Given the description of an element on the screen output the (x, y) to click on. 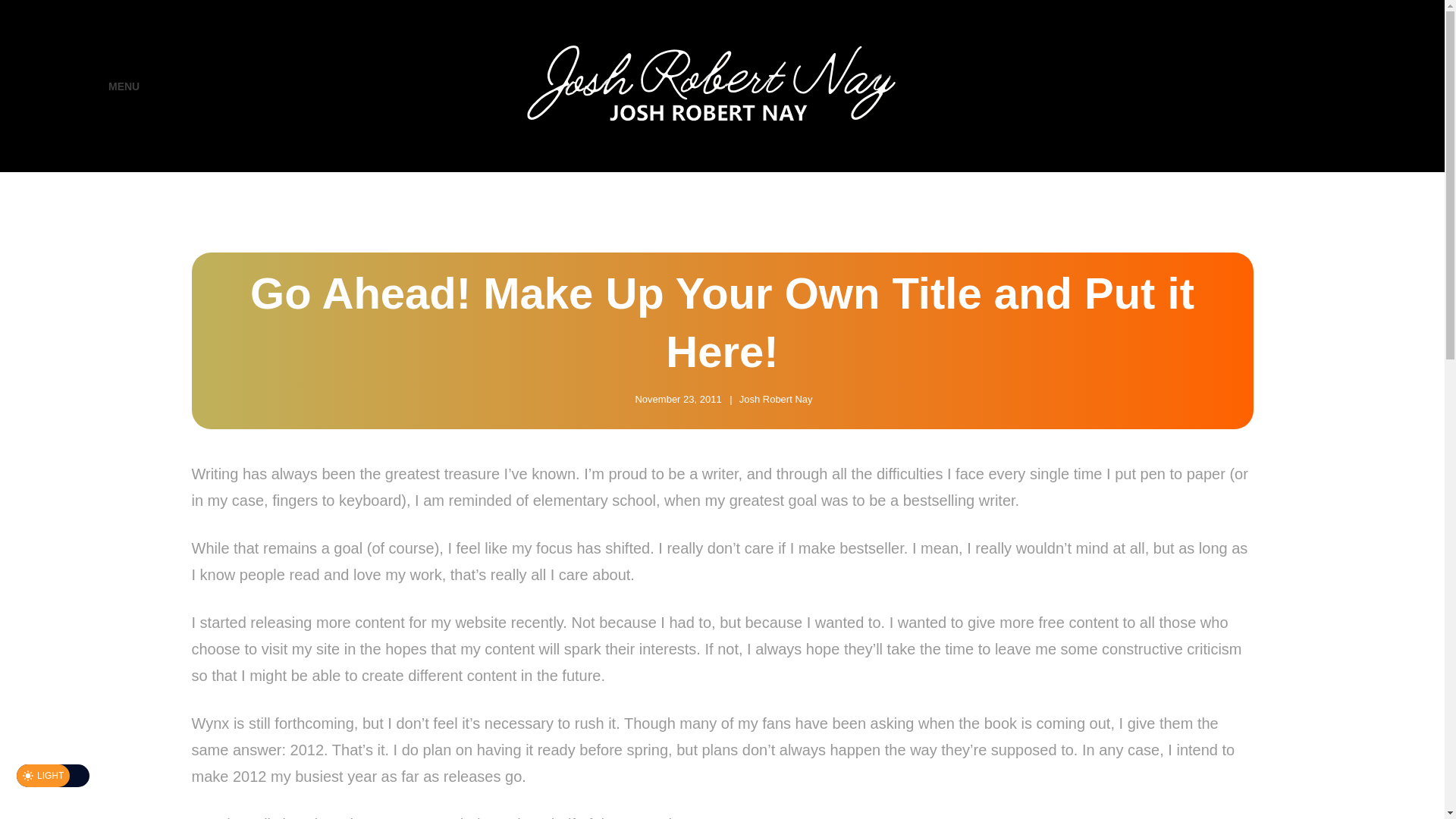
Search (1354, 85)
JOSHROBERTNAY.COM (1075, 96)
Josh Robert Nay (775, 399)
MENU (109, 85)
November 23, 2011 (677, 399)
